Given the description of an element on the screen output the (x, y) to click on. 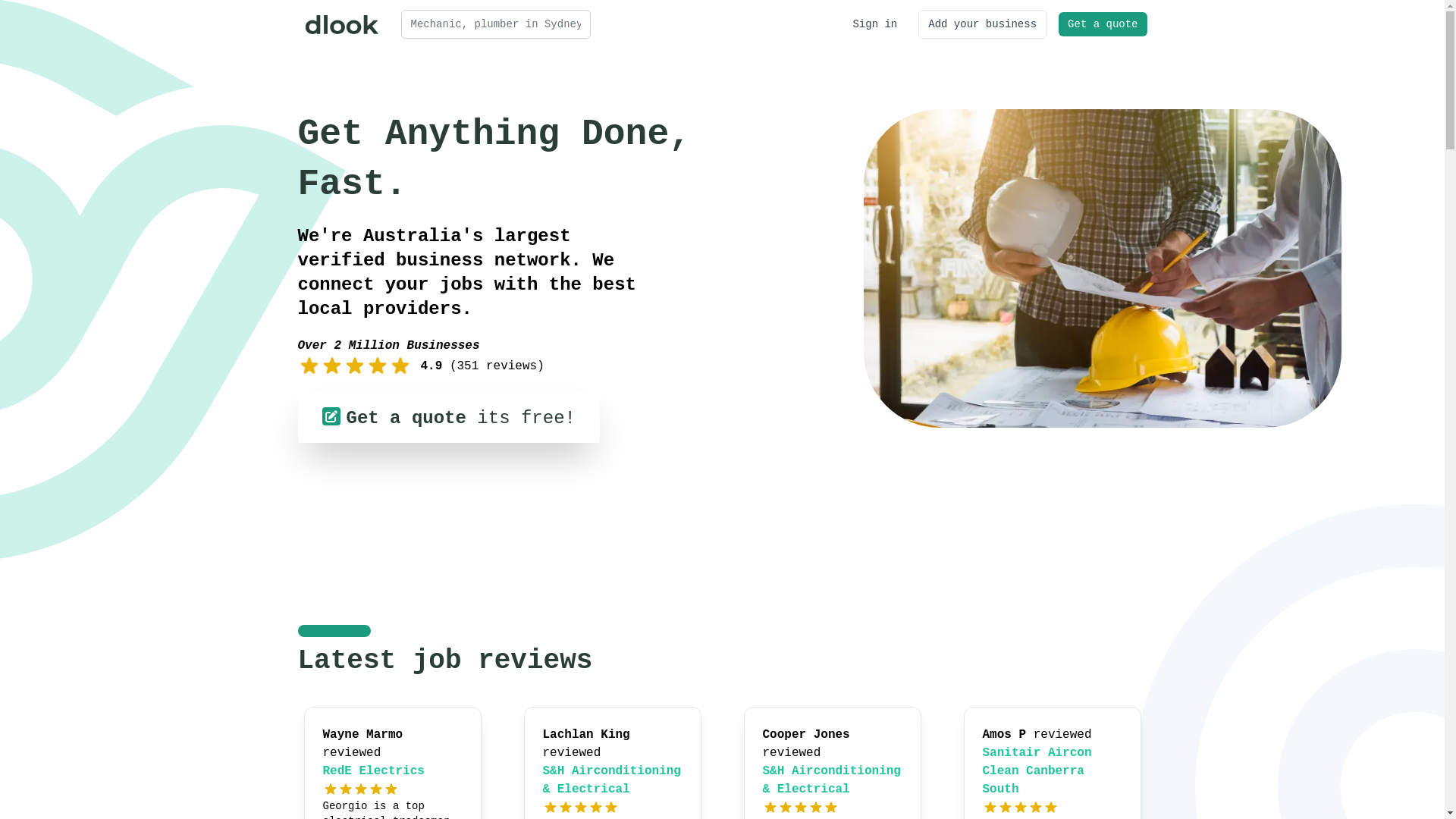
Sanitair Aircon Clean Canberra South Element type: text (1037, 771)
S&H Airconditioning & Electrical Element type: text (611, 780)
RedE Electrics Element type: text (373, 771)
Get a quote its free! Element type: text (448, 417)
S&H Airconditioning & Electrical Element type: text (831, 780)
Get a quote Element type: text (1102, 24)
Add your business Element type: text (982, 23)
Sign in Element type: text (874, 23)
